Given the description of an element on the screen output the (x, y) to click on. 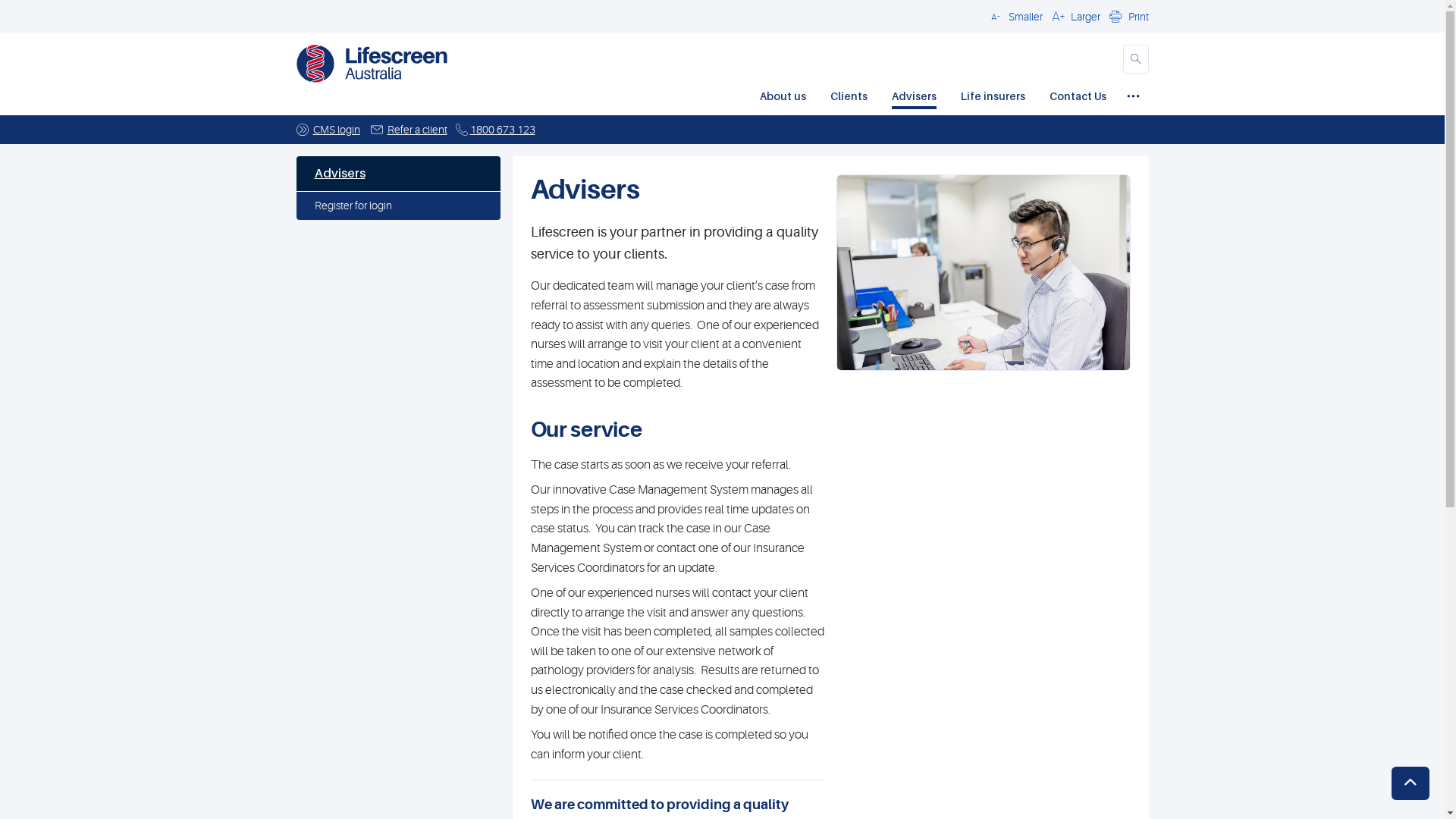
Larger Element type: text (1073, 15)
About us Element type: text (782, 97)
Advisers Element type: text (913, 97)
Smaller Element type: text (1013, 15)
Print Element type: text (1126, 15)
CMS login Element type: text (335, 129)
1800 673 123 Element type: text (502, 129)
Life insurers Element type: text (992, 97)
Contact Us Element type: text (1077, 97)
Refer a client Element type: text (416, 129)
Advisers Element type: text (397, 173)
Clients Element type: text (847, 97)
Register for login Element type: text (397, 205)
